Given the description of an element on the screen output the (x, y) to click on. 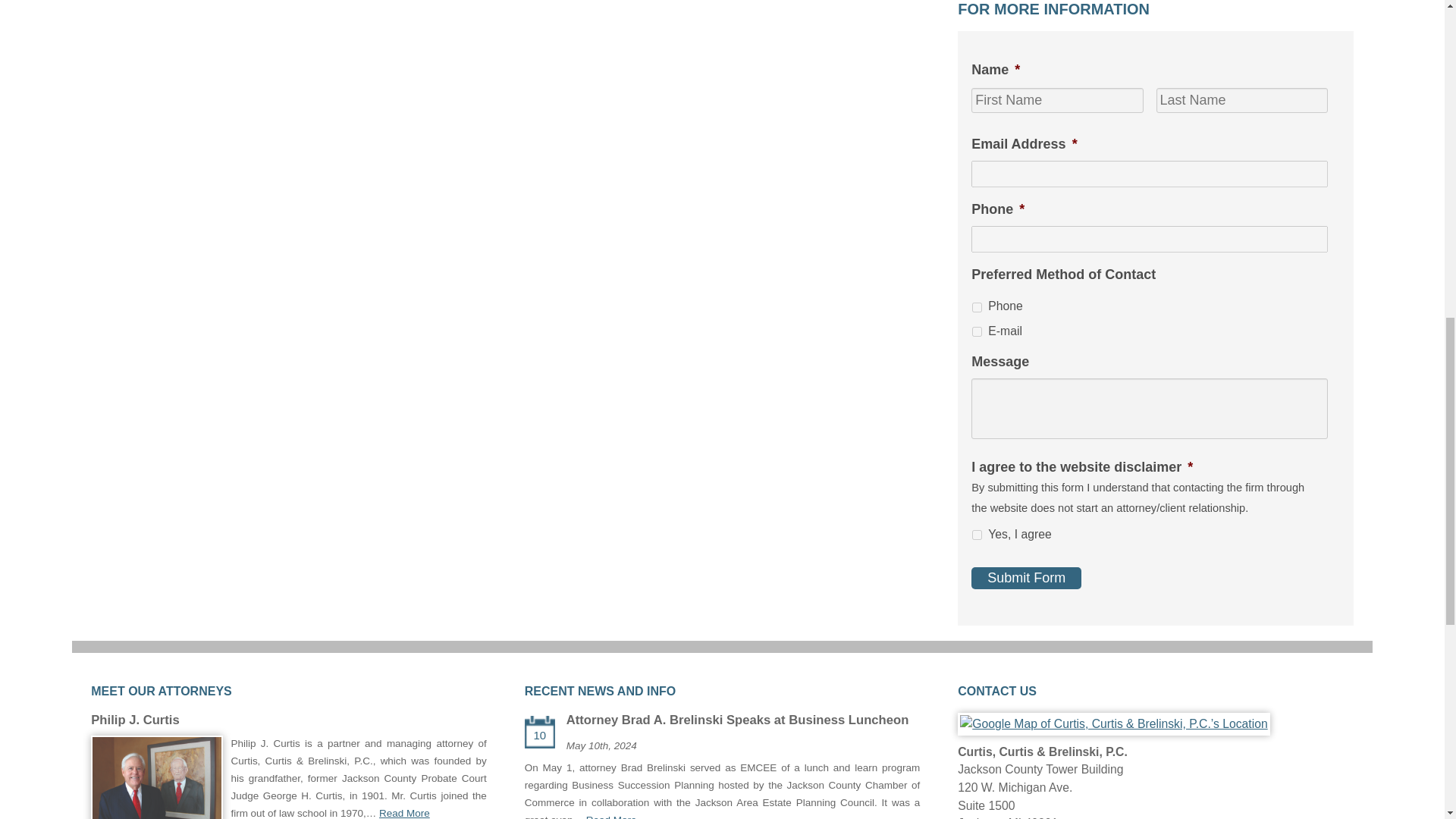
Phone (976, 307)
Submit Form (1026, 577)
Yes, I agree (976, 534)
E-mail (976, 331)
